Given the description of an element on the screen output the (x, y) to click on. 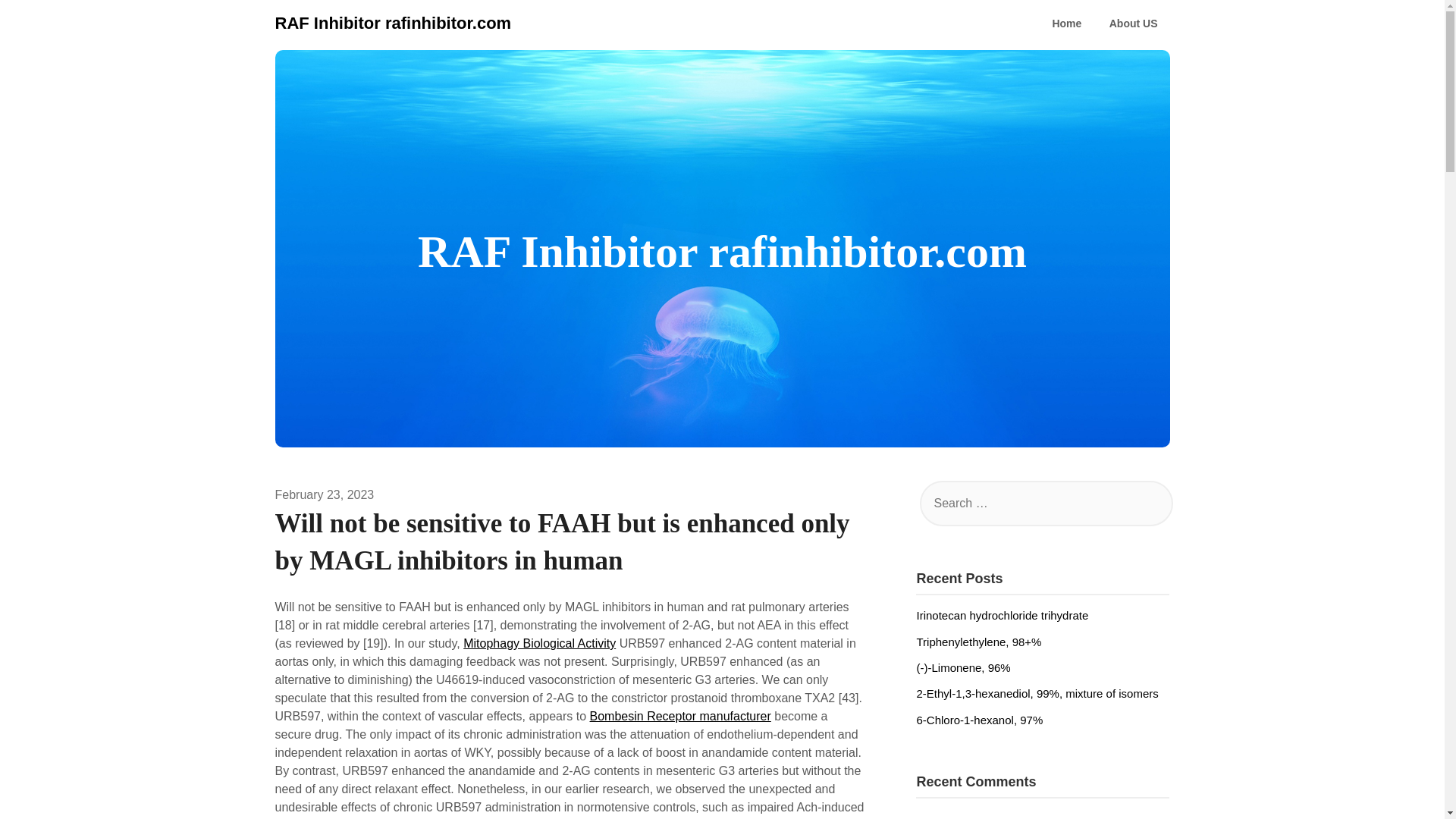
Irinotecan hydrochloride trihydrate (1001, 615)
Search (38, 22)
Bombesin Receptor manufacturer (680, 716)
Mitophagy Biological Activity (539, 643)
About US (1133, 24)
February 23, 2023 (324, 494)
RAF Inhibitor rafinhibitor.com (393, 22)
Home (1066, 24)
